Given the description of an element on the screen output the (x, y) to click on. 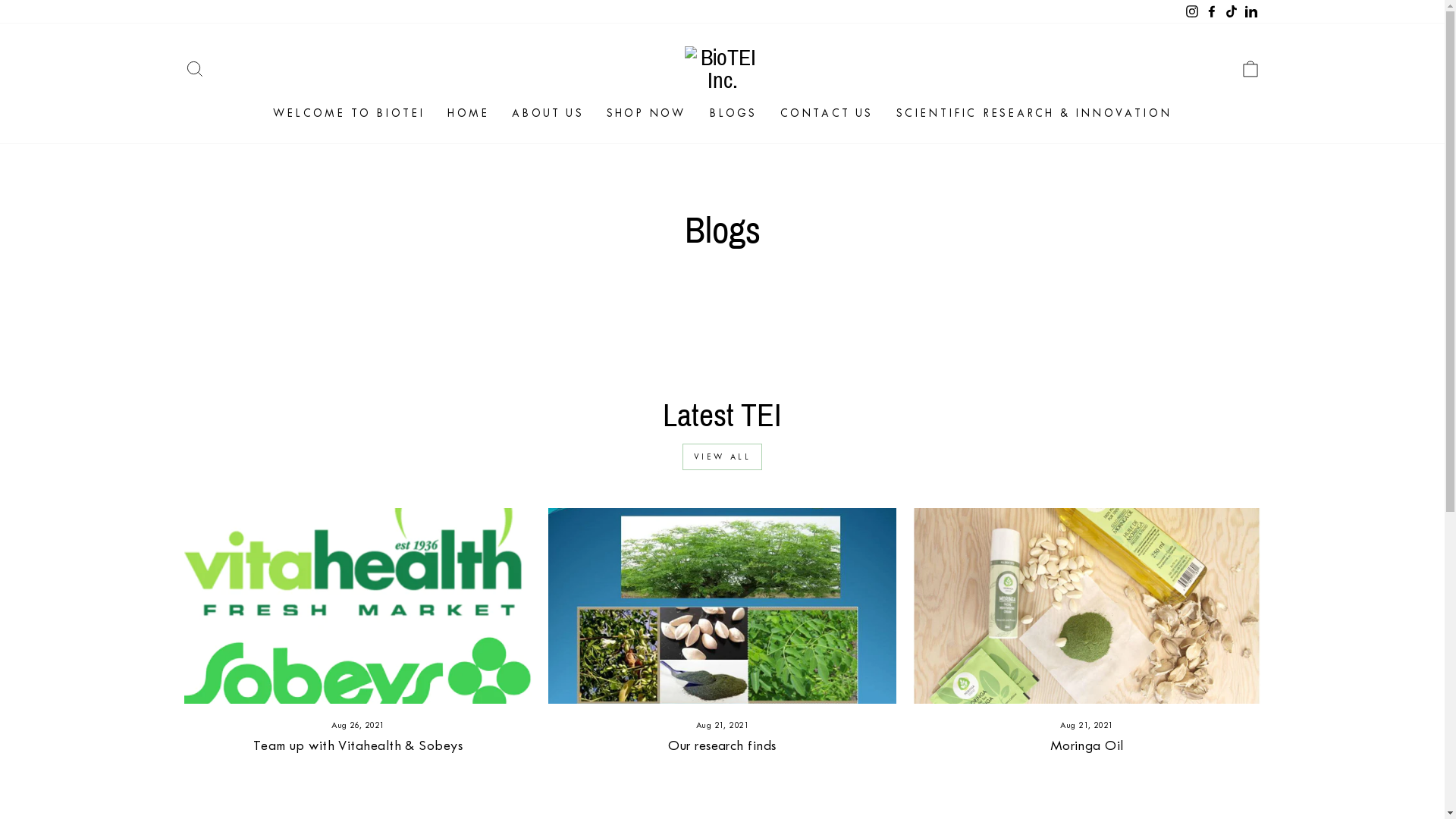
VIEW ALL Element type: text (722, 456)
Our research finds Element type: text (721, 745)
Team up with Vitahealth & Sobeys Element type: text (357, 745)
LinkedIn Element type: text (1250, 11)
Moringa Oil Element type: text (1086, 745)
SEARCH Element type: text (193, 69)
SHOP NOW Element type: text (646, 113)
Facebook Element type: text (1210, 11)
Instagram Element type: text (1191, 11)
CART Element type: text (1249, 69)
ABOUT US Element type: text (547, 113)
SCIENTIFIC RESEARCH & INNOVATION Element type: text (1033, 113)
HOME Element type: text (468, 113)
TikTok Element type: text (1230, 11)
BLOGS Element type: text (732, 113)
CONTACT US Element type: text (826, 113)
WELCOME TO BIOTEI Element type: text (348, 113)
Skip to content Element type: text (0, 0)
